Given the description of an element on the screen output the (x, y) to click on. 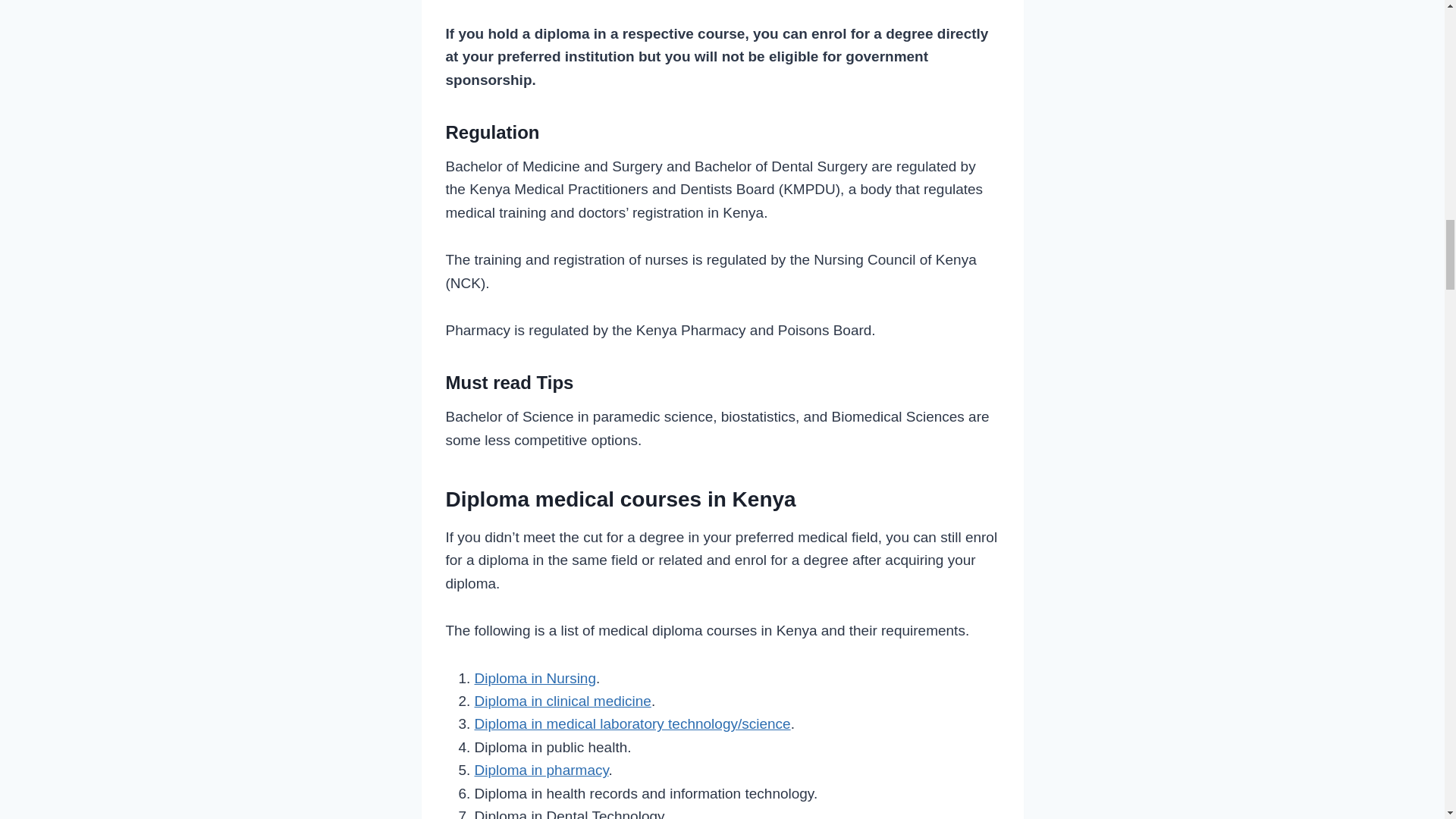
Diploma in clinical medicine (562, 700)
Diploma in pharmacy (541, 770)
Diploma in Nursing (535, 678)
